Given the description of an element on the screen output the (x, y) to click on. 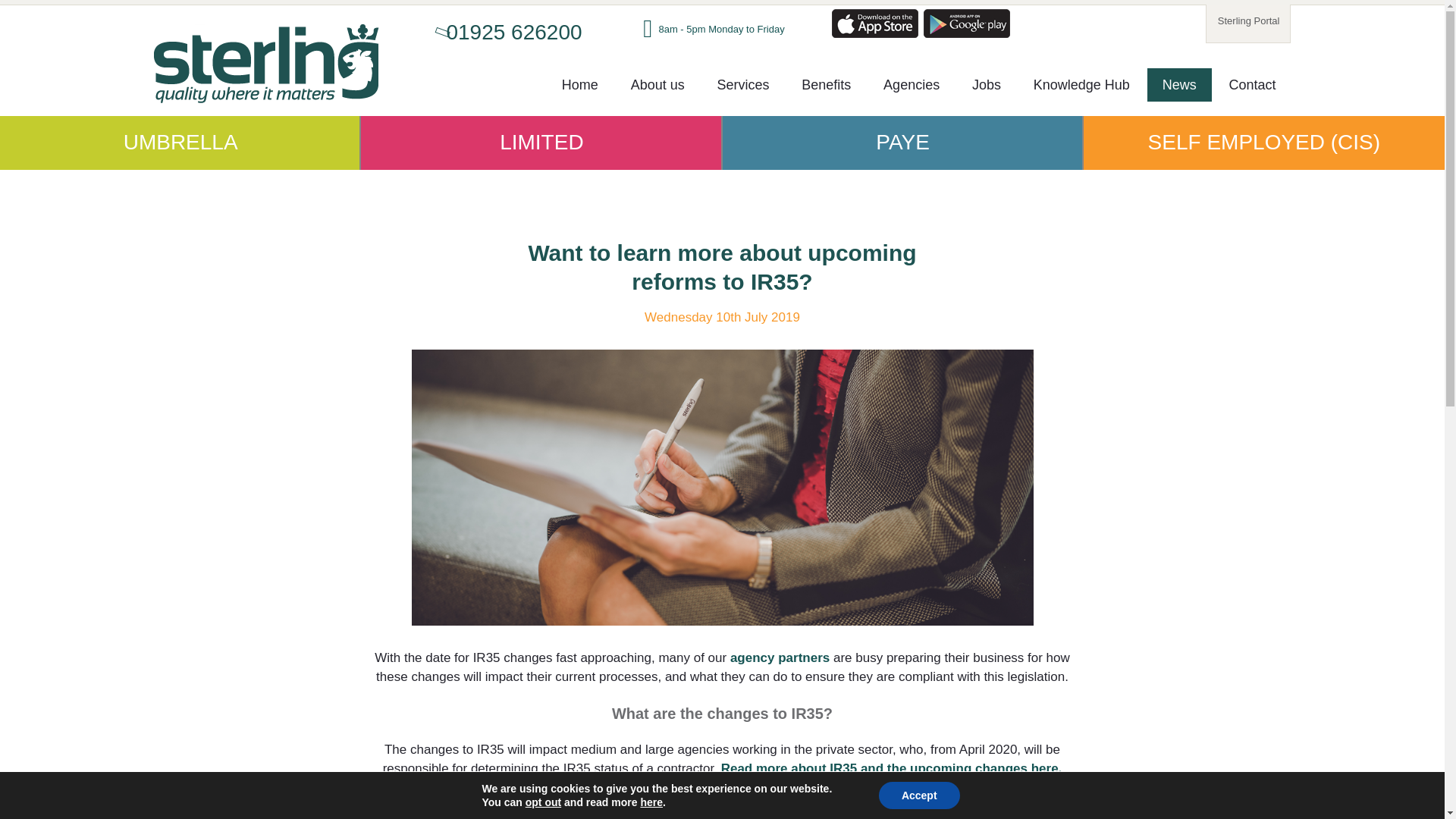
Home (579, 84)
Jobs (986, 84)
Contact (1251, 84)
Services (742, 84)
Knowledge Hub (1080, 84)
Agencies (911, 84)
Sterling Portal (1249, 21)
Benefits (826, 84)
News (1179, 84)
About us (657, 84)
